Given the description of an element on the screen output the (x, y) to click on. 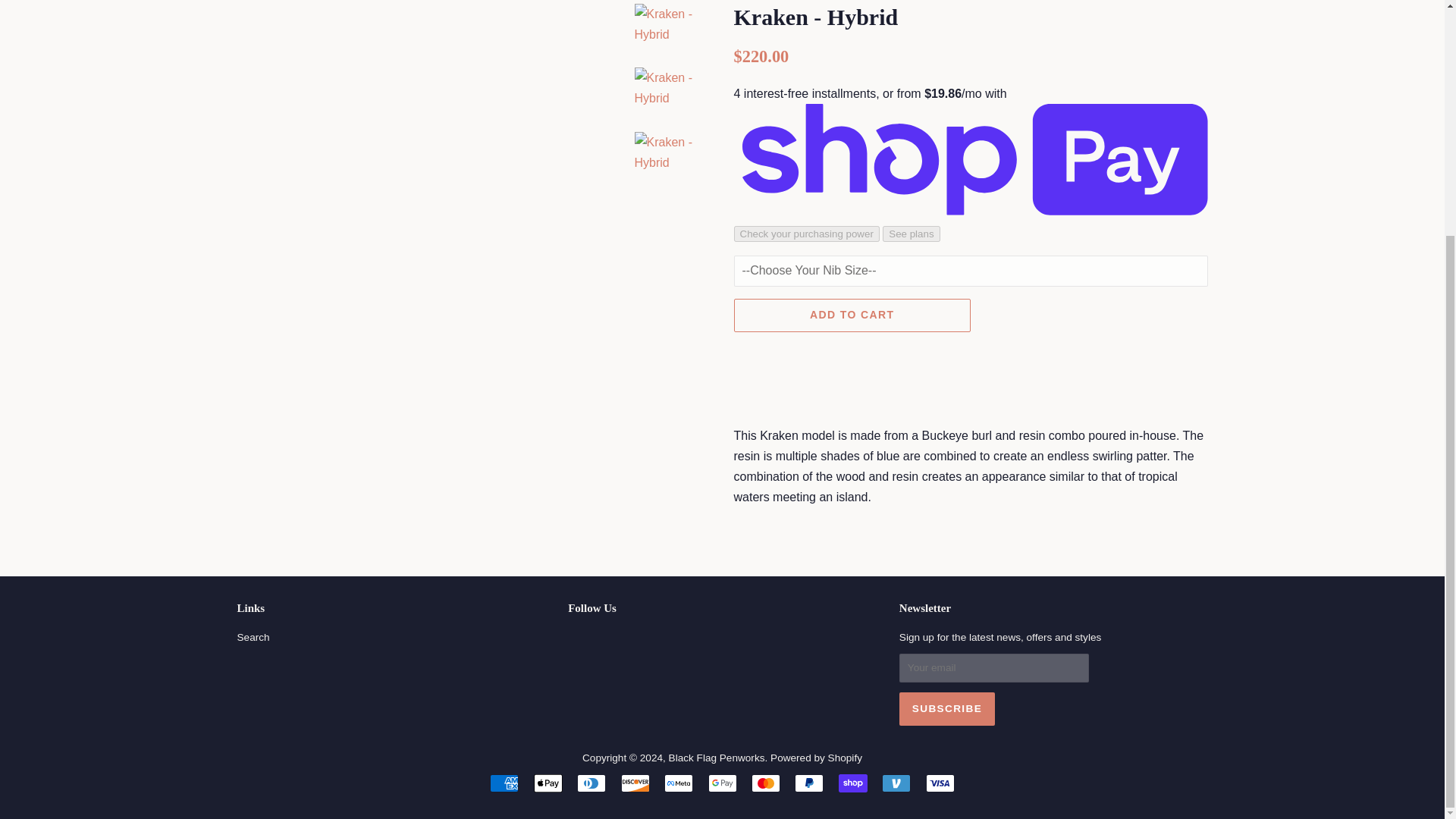
Mastercard (765, 782)
Shop Pay (852, 782)
Subscribe (946, 708)
Apple Pay (548, 782)
Diners Club (590, 782)
Venmo (896, 782)
Meta Pay (678, 782)
PayPal (809, 782)
Google Pay (721, 782)
American Express (503, 782)
Discover (635, 782)
Visa (940, 782)
